Given the description of an element on the screen output the (x, y) to click on. 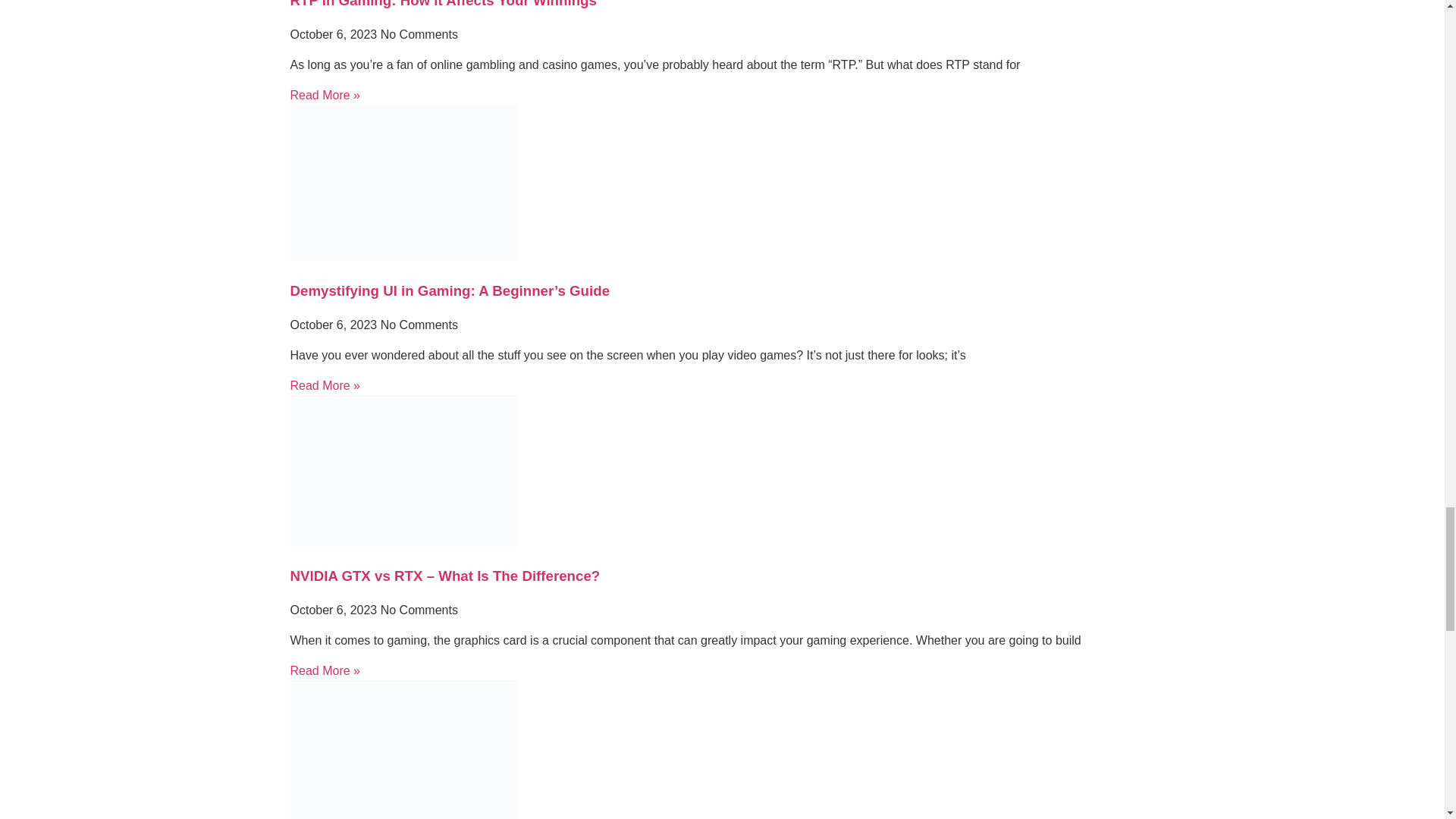
RTP in Gaming: How It Affects Your Winnings (442, 4)
